Given the description of an element on the screen output the (x, y) to click on. 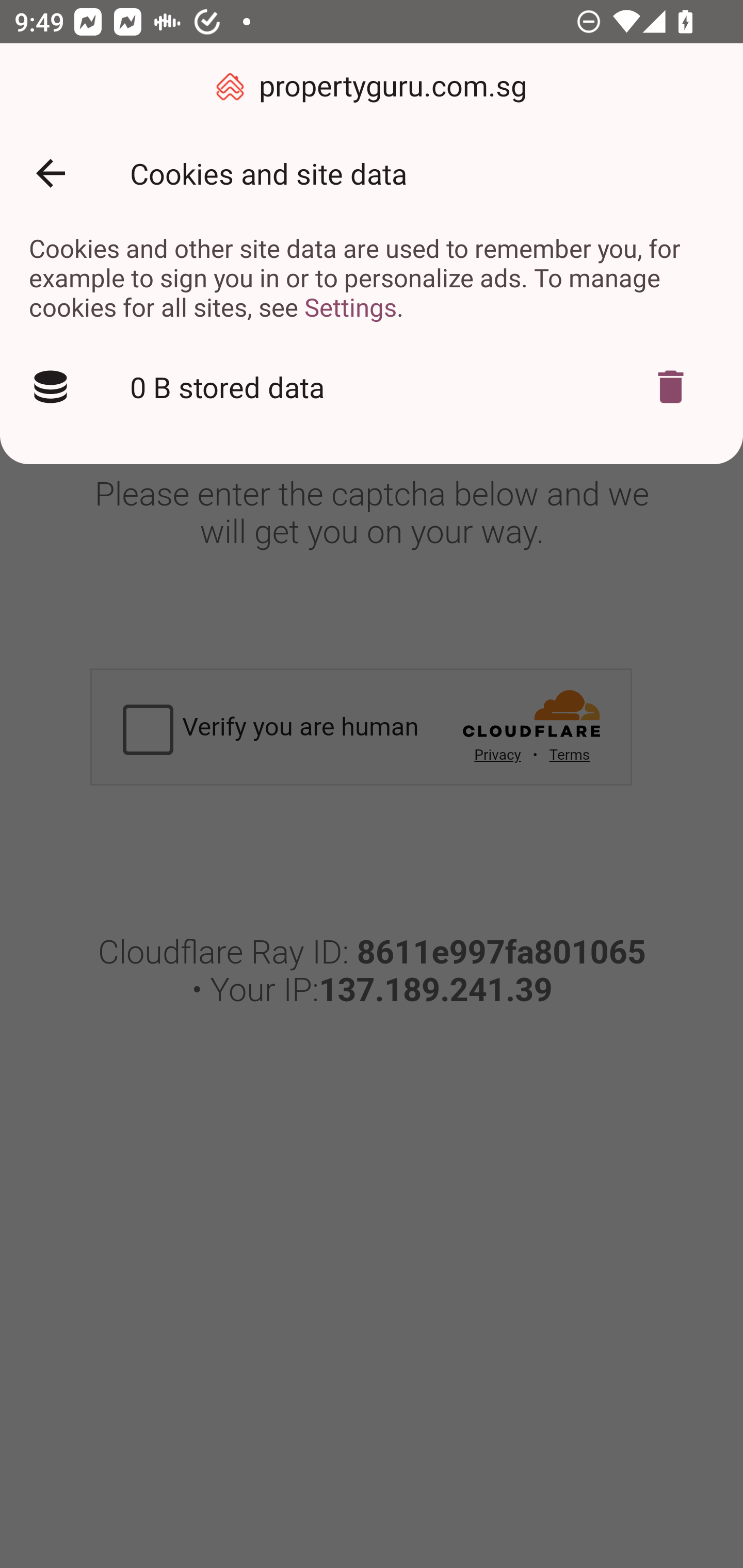
propertyguru.com.sg (371, 86)
Back (50, 173)
0 B stored data Delete cookies? (371, 386)
